Given the description of an element on the screen output the (x, y) to click on. 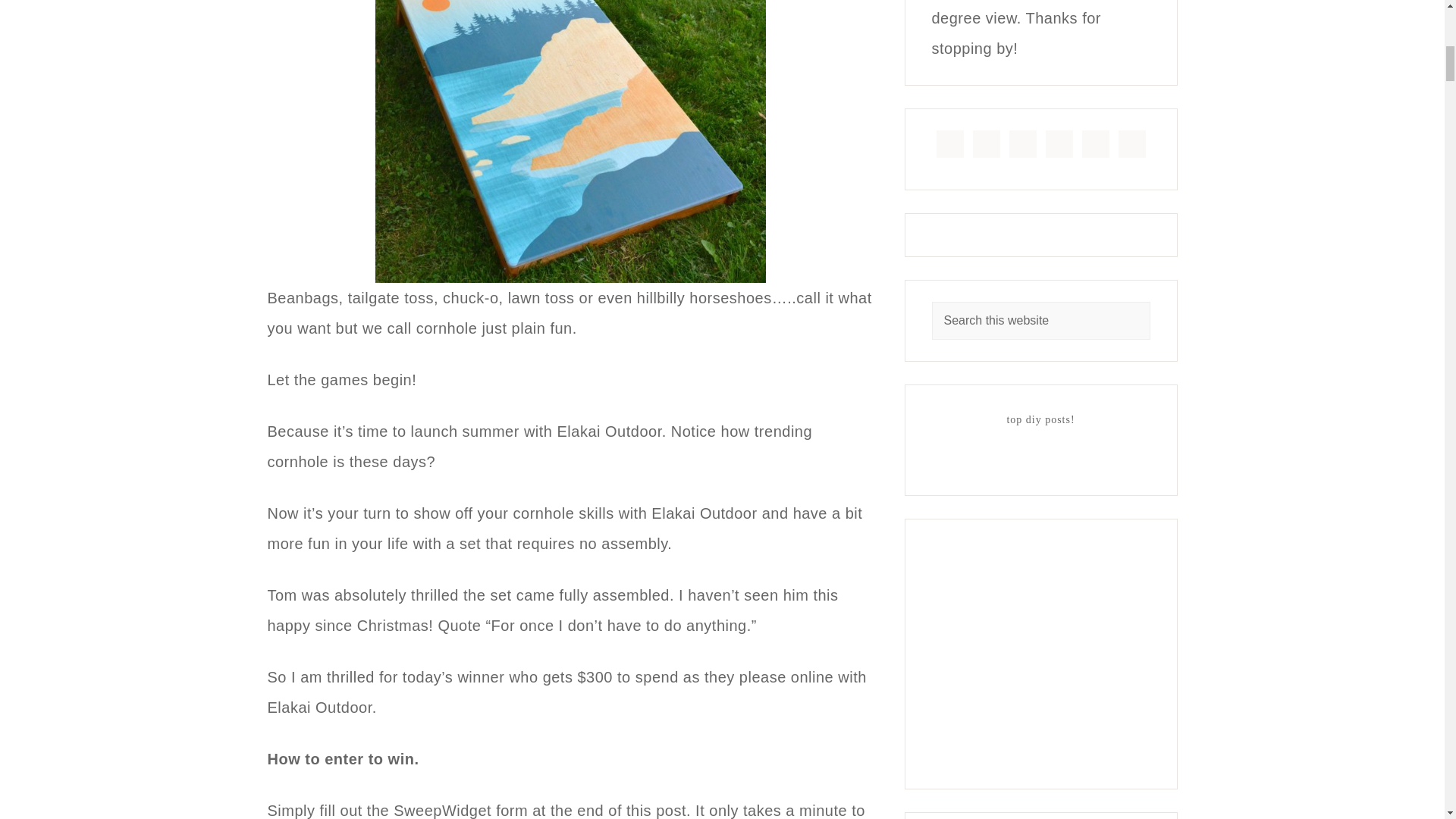
top diy posts! (975, 461)
